Given the description of an element on the screen output the (x, y) to click on. 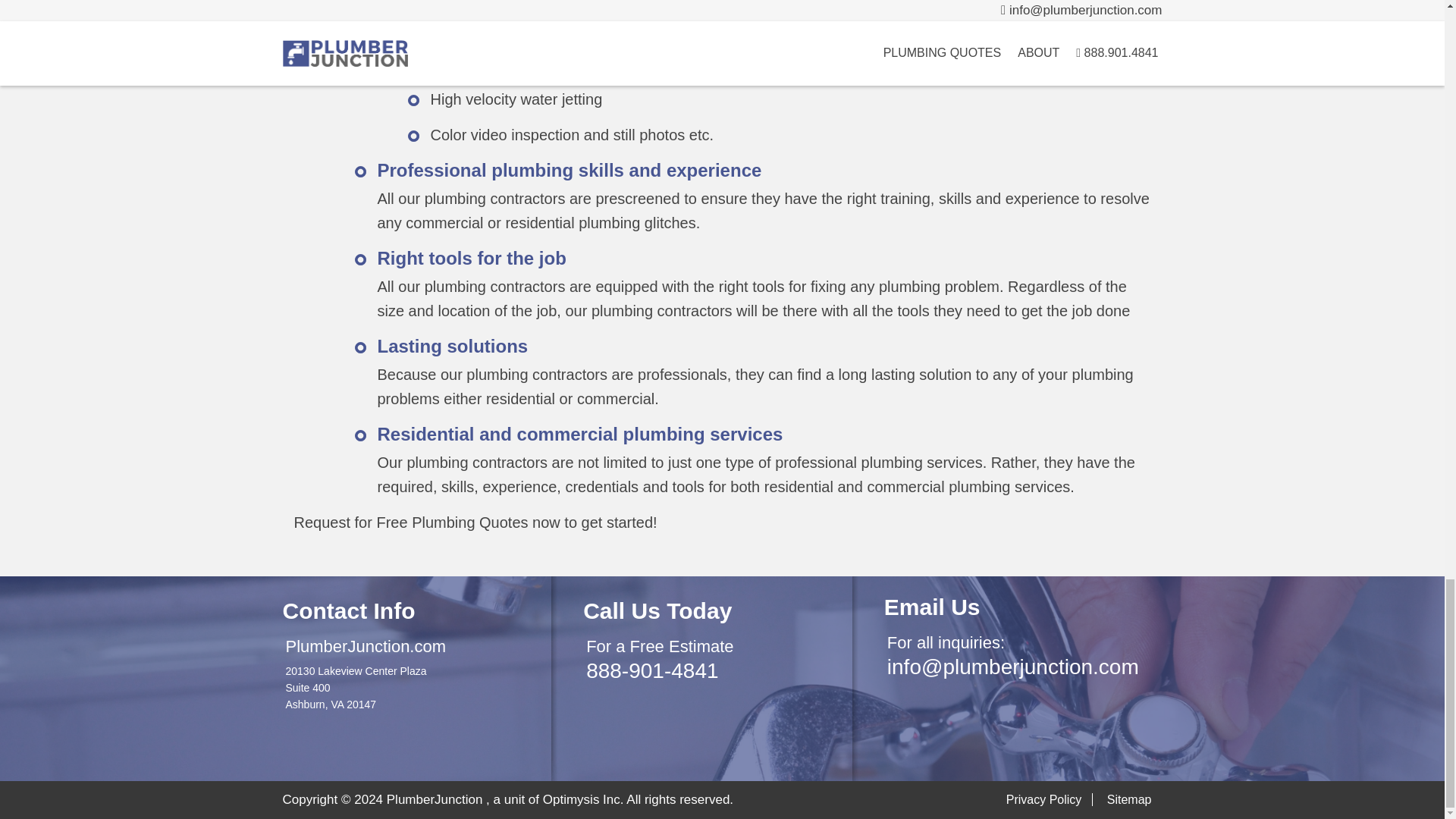
Privacy Policy (1049, 799)
Sitemap (1133, 799)
